Given the description of an element on the screen output the (x, y) to click on. 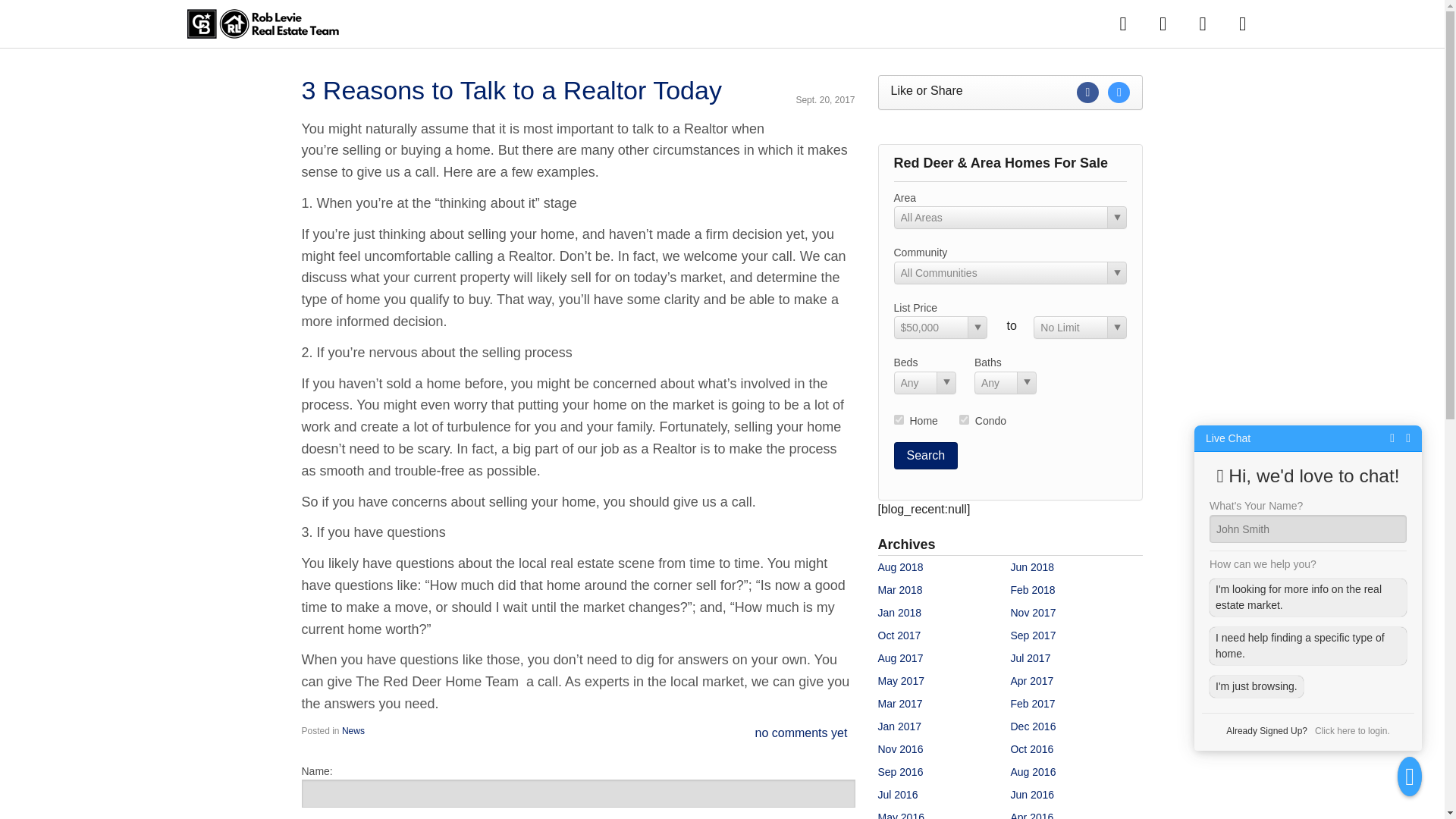
Open Chat Client (1409, 776)
res (897, 419)
Open contact form (1122, 22)
3 Reasons to Talk to a Realtor Today (511, 90)
Menu (1242, 22)
Login or Signup (1201, 22)
Aug 2018 (900, 567)
Live Chat: undefined (1227, 437)
con (964, 419)
Search (925, 455)
Jan 2018 (899, 612)
News (353, 730)
Feb 2018 (1032, 589)
Jul 2017 (1029, 657)
Sep 2017 (1032, 635)
